Given the description of an element on the screen output the (x, y) to click on. 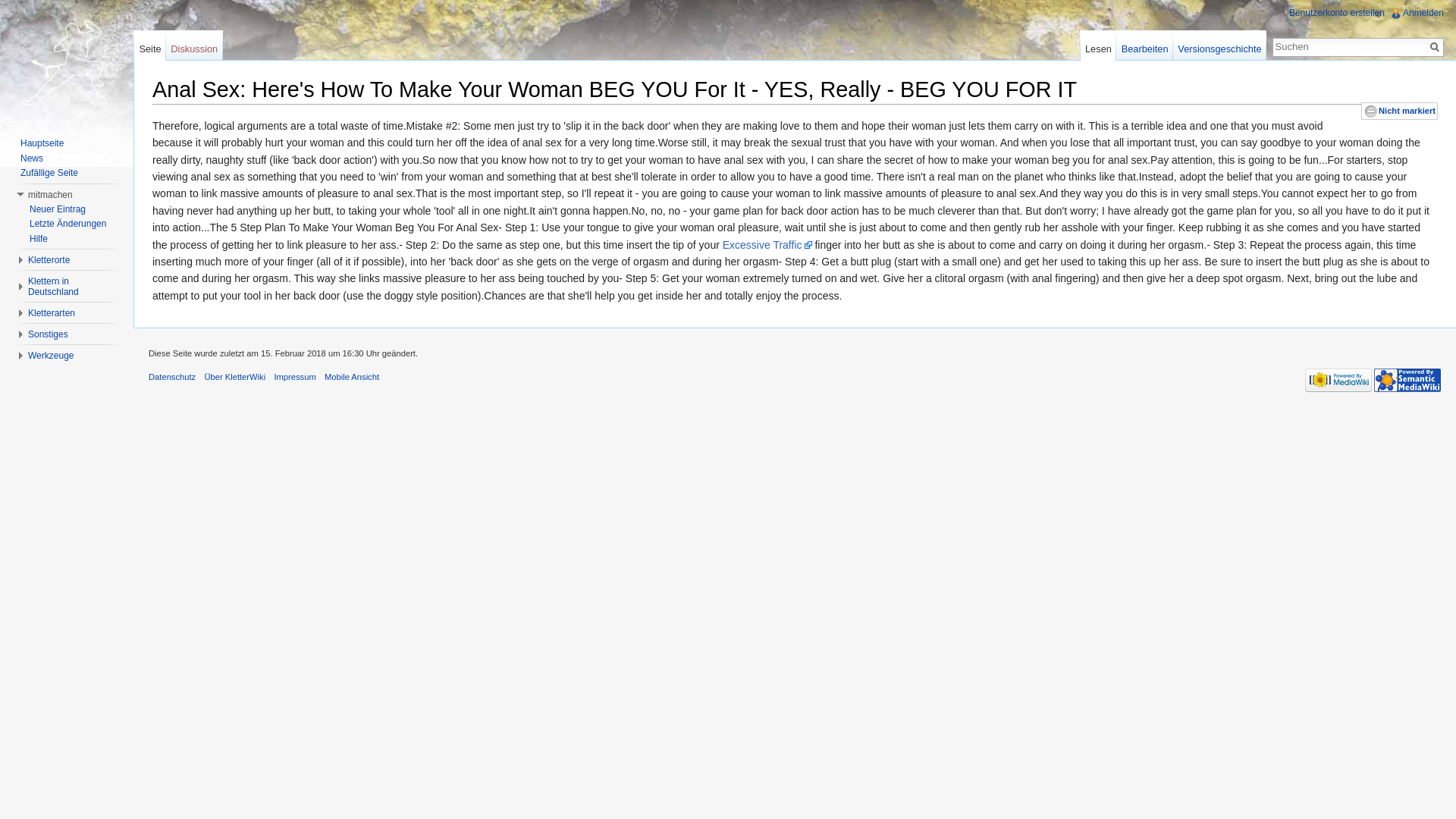
Seite (1434, 46)
Kletterarten (51, 312)
Klettern in Deutschland (52, 286)
Seite (1434, 46)
Anmelden (1423, 12)
Hauptseite (42, 143)
News (31, 158)
Bearbeiten (1144, 45)
Lesen (1098, 45)
Hilfe (38, 238)
